Given the description of an element on the screen output the (x, y) to click on. 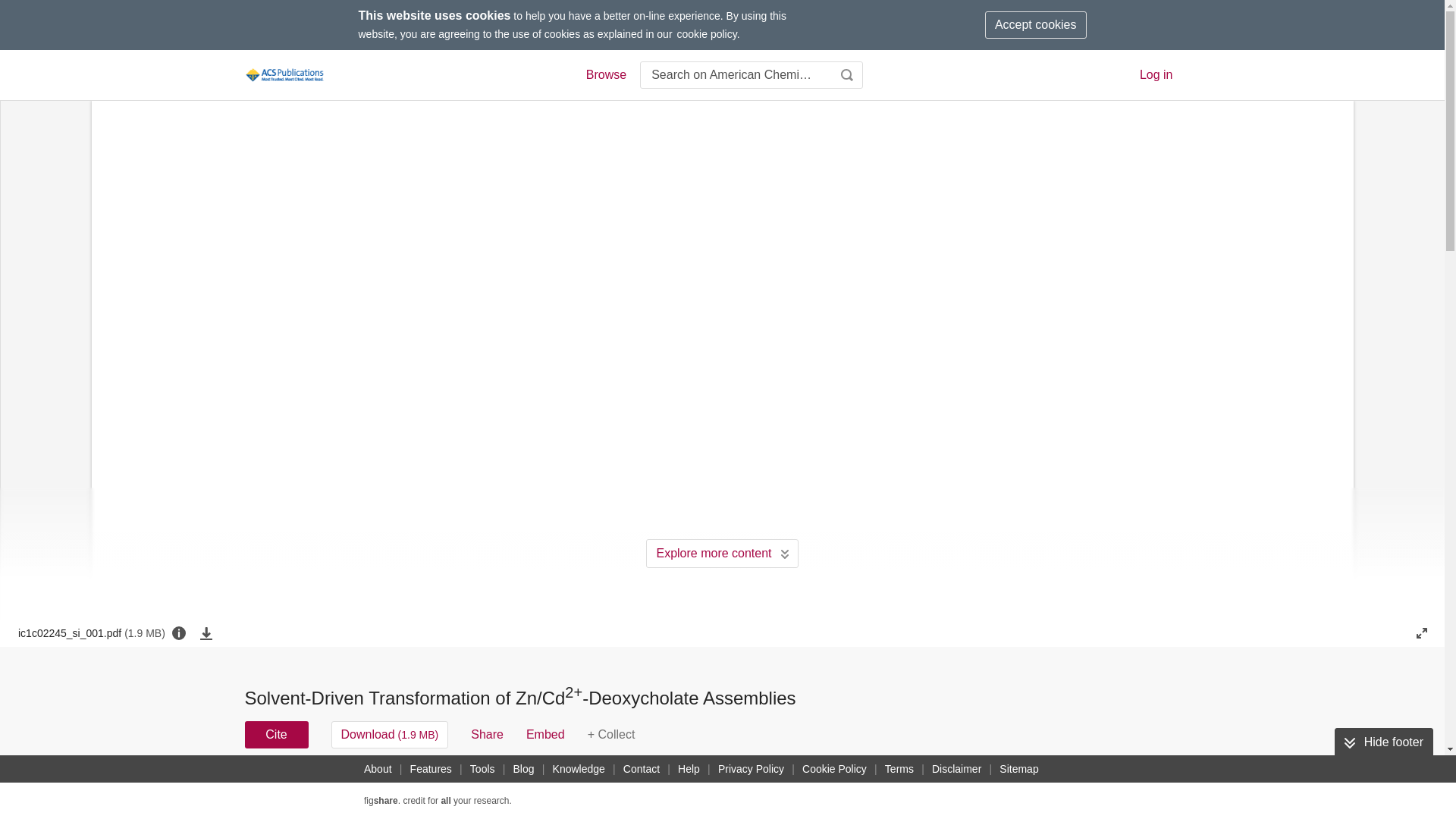
you need to log in first (611, 734)
Share (486, 734)
Explore more content (721, 553)
Log in (1156, 74)
USAGE METRICS (976, 789)
Embed (544, 734)
Browse (605, 75)
Accept cookies (1035, 24)
cookie policy (706, 33)
